Given the description of an element on the screen output the (x, y) to click on. 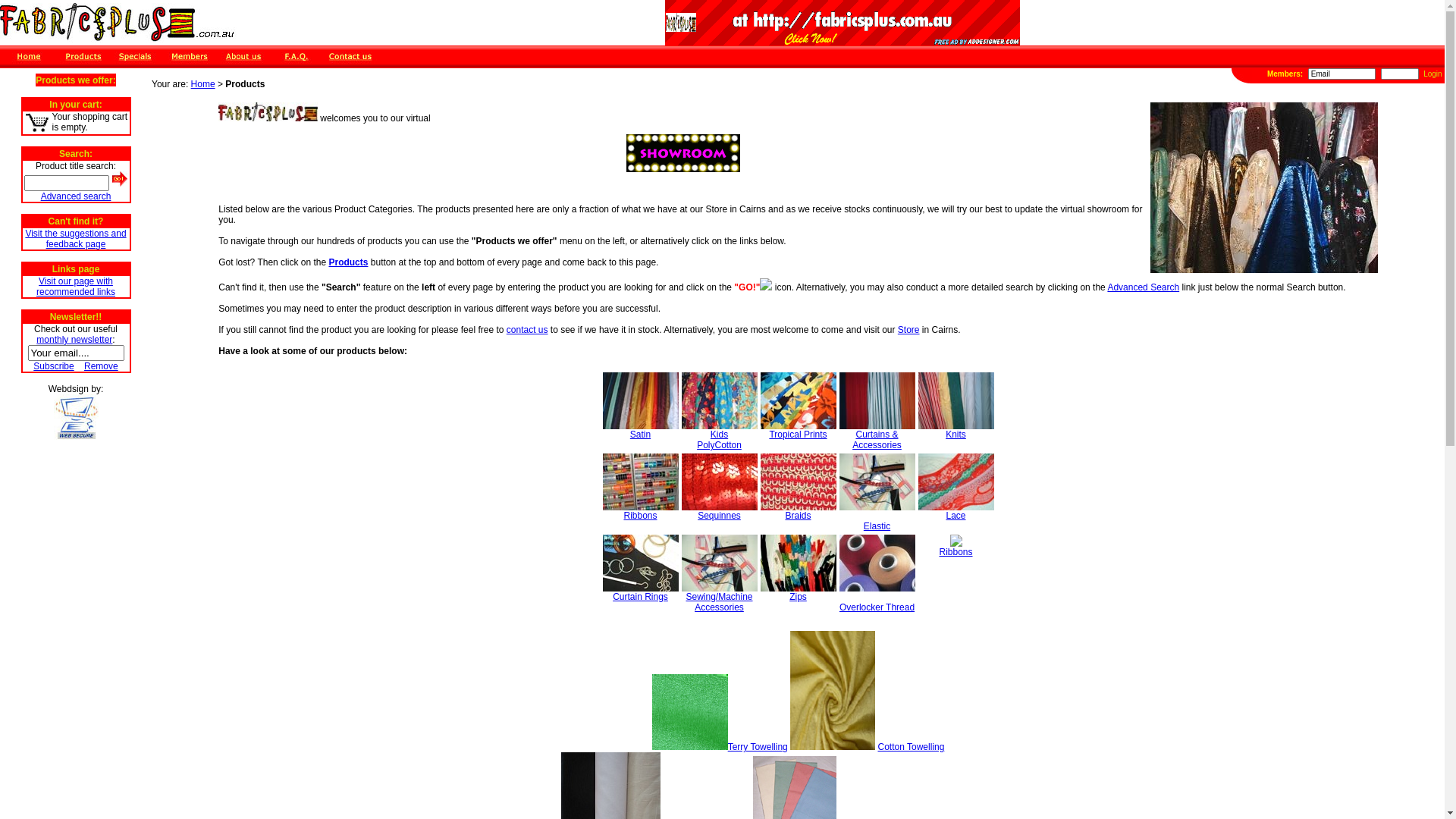
Subscribe Element type: text (53, 365)
Cotton Towelling Element type: text (910, 746)
Remove Element type: text (101, 365)
Sequinnes Element type: text (718, 511)
Curtains &
Accessories Element type: text (876, 435)
Ribbons Element type: text (955, 547)
Terry Towelling Element type: text (757, 746)
monthly newsletter Element type: text (74, 339)
Visit the suggestions and feedback page Element type: text (75, 238)
Kids
PolyCotton Element type: text (718, 435)
Satin Element type: text (639, 429)
Advanced Search Element type: text (1143, 287)
Ribbons Element type: text (639, 511)
Advanced search Element type: text (75, 196)
Your email.... Element type: text (75, 352)
contact us Element type: text (527, 329)
Email Element type: text (1341, 73)
Lace Element type: text (955, 511)
Sewing/Machine
Accessories Element type: text (718, 597)
Login Element type: text (1432, 73)
Visit our page with recommended links Element type: text (75, 286)
Store Element type: text (908, 329)
Knits Element type: text (955, 429)
Curtain Rings Element type: text (639, 592)
Home Element type: text (203, 83)
Products Element type: text (347, 262)
Overlocker Thread Element type: text (876, 597)
Tropical Prints Element type: text (797, 429)
Elastic Element type: text (876, 516)
Braids Element type: text (797, 511)
Zips Element type: text (797, 592)
